Given the description of an element on the screen output the (x, y) to click on. 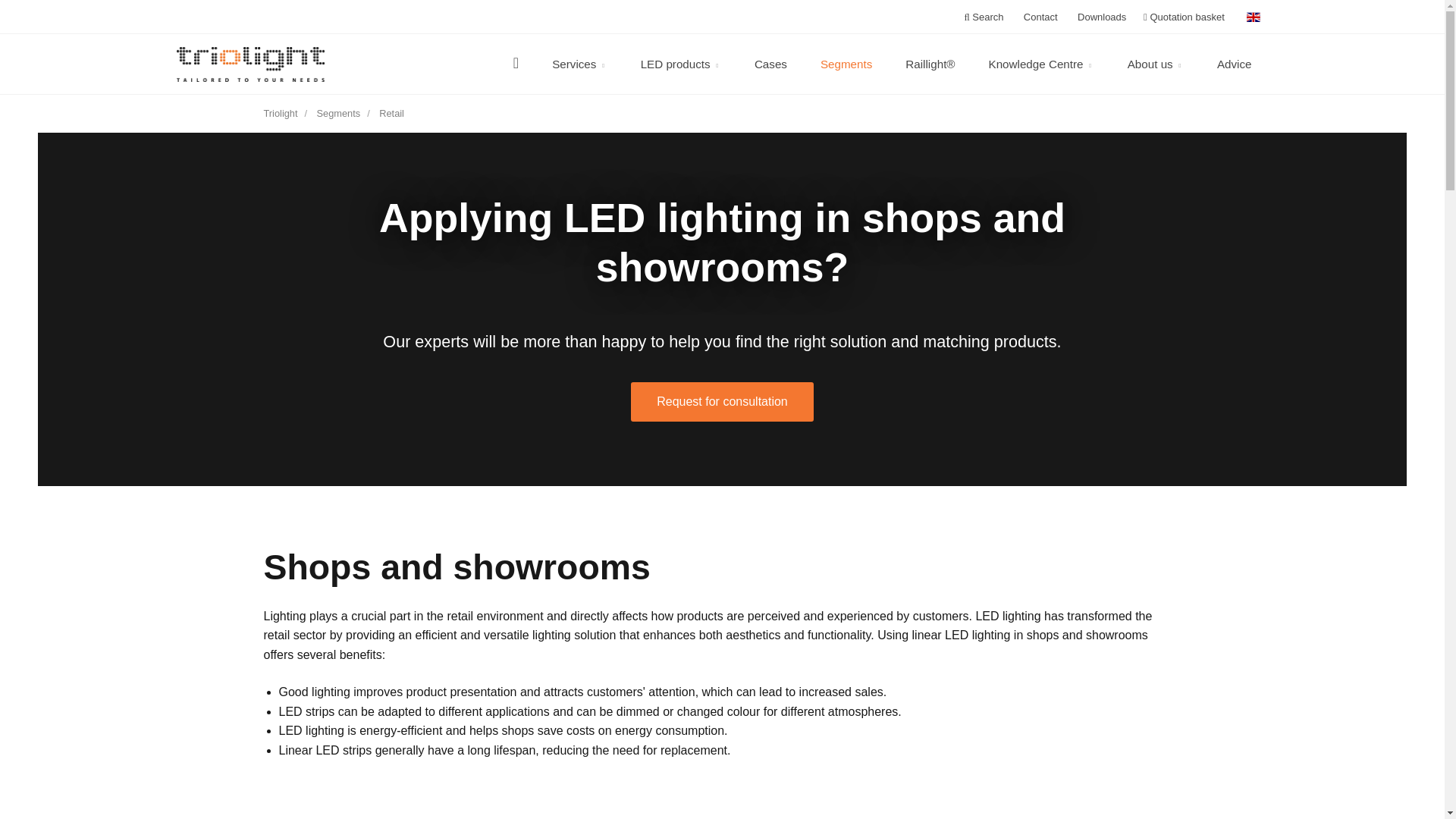
Services (579, 64)
LED products (681, 64)
About us (1154, 64)
Cases (770, 64)
Quotation basket (1183, 16)
Search (983, 16)
Segments (845, 64)
Downloads (1099, 16)
Search (983, 16)
Contact (1038, 16)
